Given the description of an element on the screen output the (x, y) to click on. 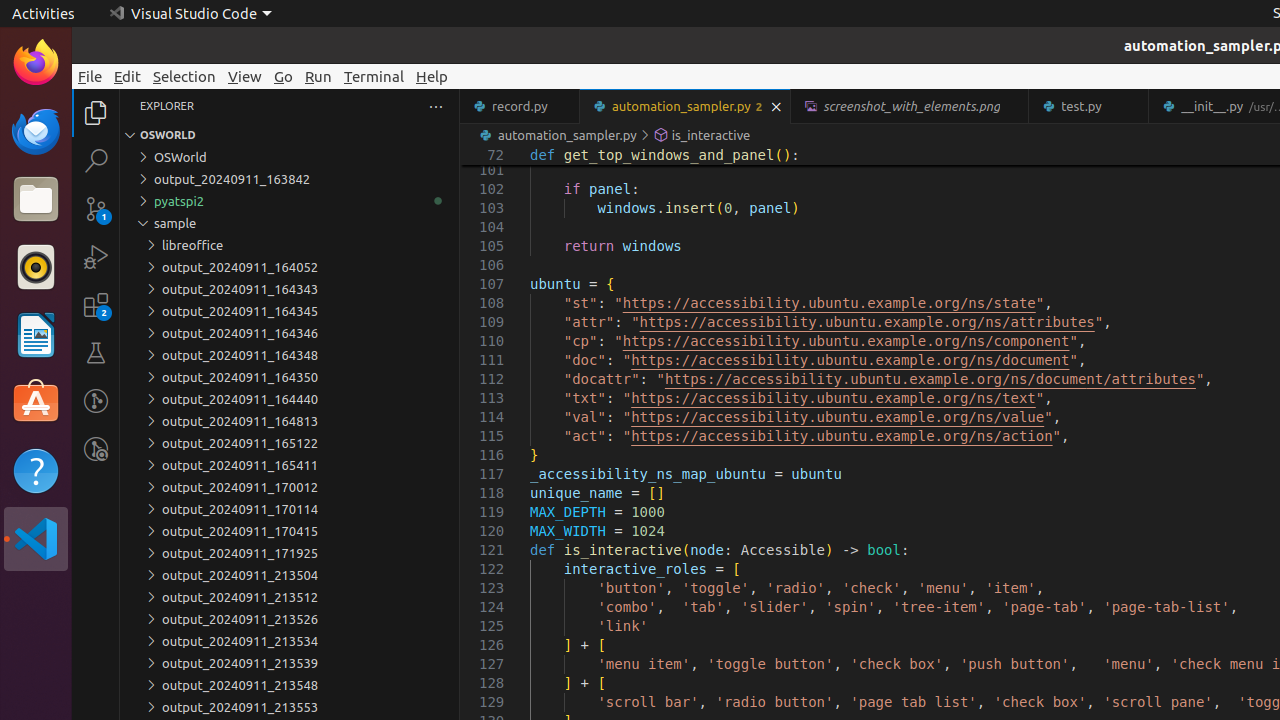
output_20240911_171925 Element type: tree-item (289, 553)
Go Element type: push-button (283, 76)
Source Control (Ctrl+Shift+G G) - 1 pending changes Element type: page-tab (96, 208)
output_20240911_165122 Element type: tree-item (289, 443)
